Given the description of an element on the screen output the (x, y) to click on. 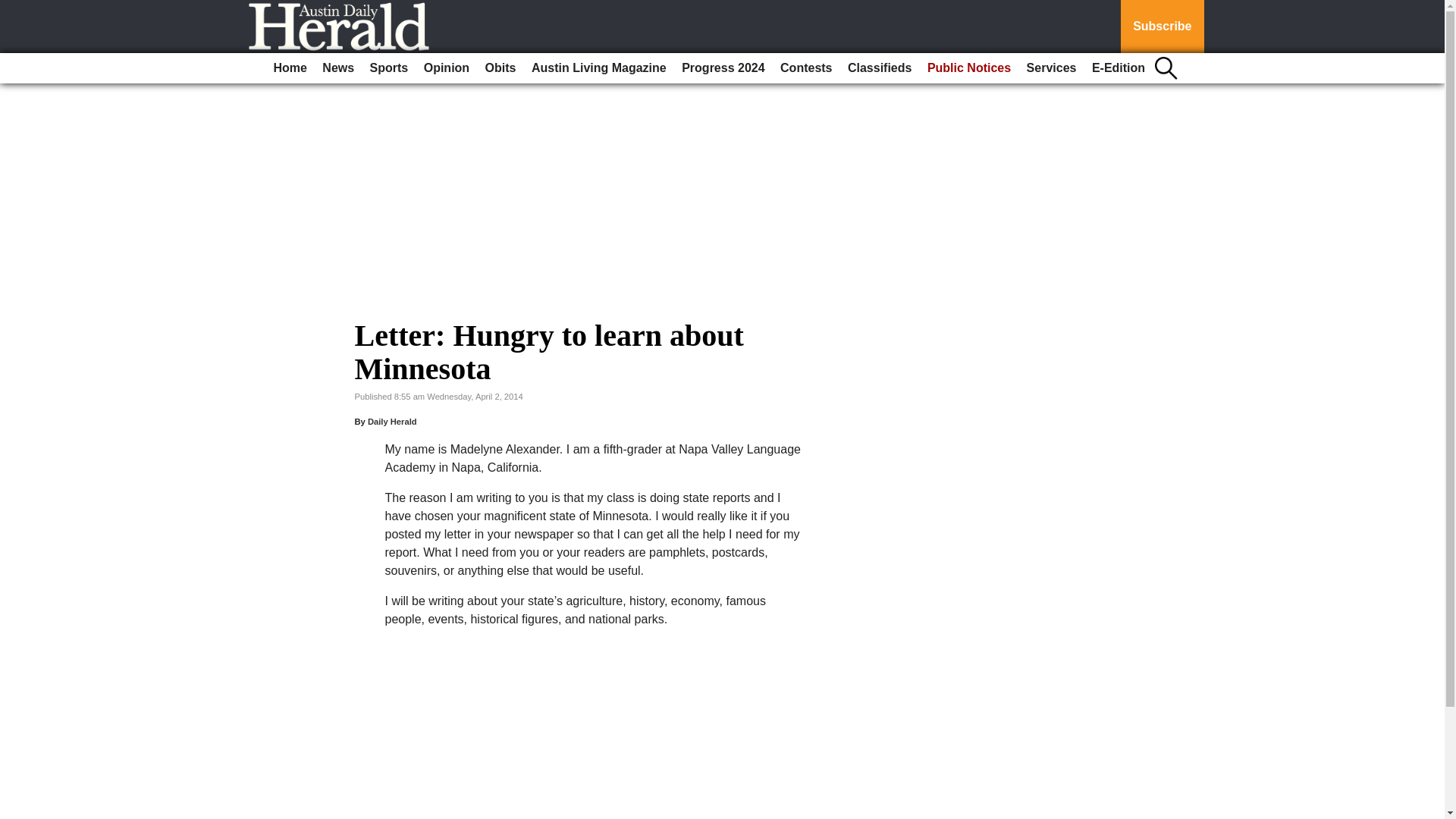
Services (1051, 68)
Opinion (446, 68)
News (337, 68)
Classifieds (879, 68)
Obits (500, 68)
Home (289, 68)
Subscribe (1162, 26)
Public Notices (968, 68)
Progress 2024 (722, 68)
Contests (806, 68)
